Given the description of an element on the screen output the (x, y) to click on. 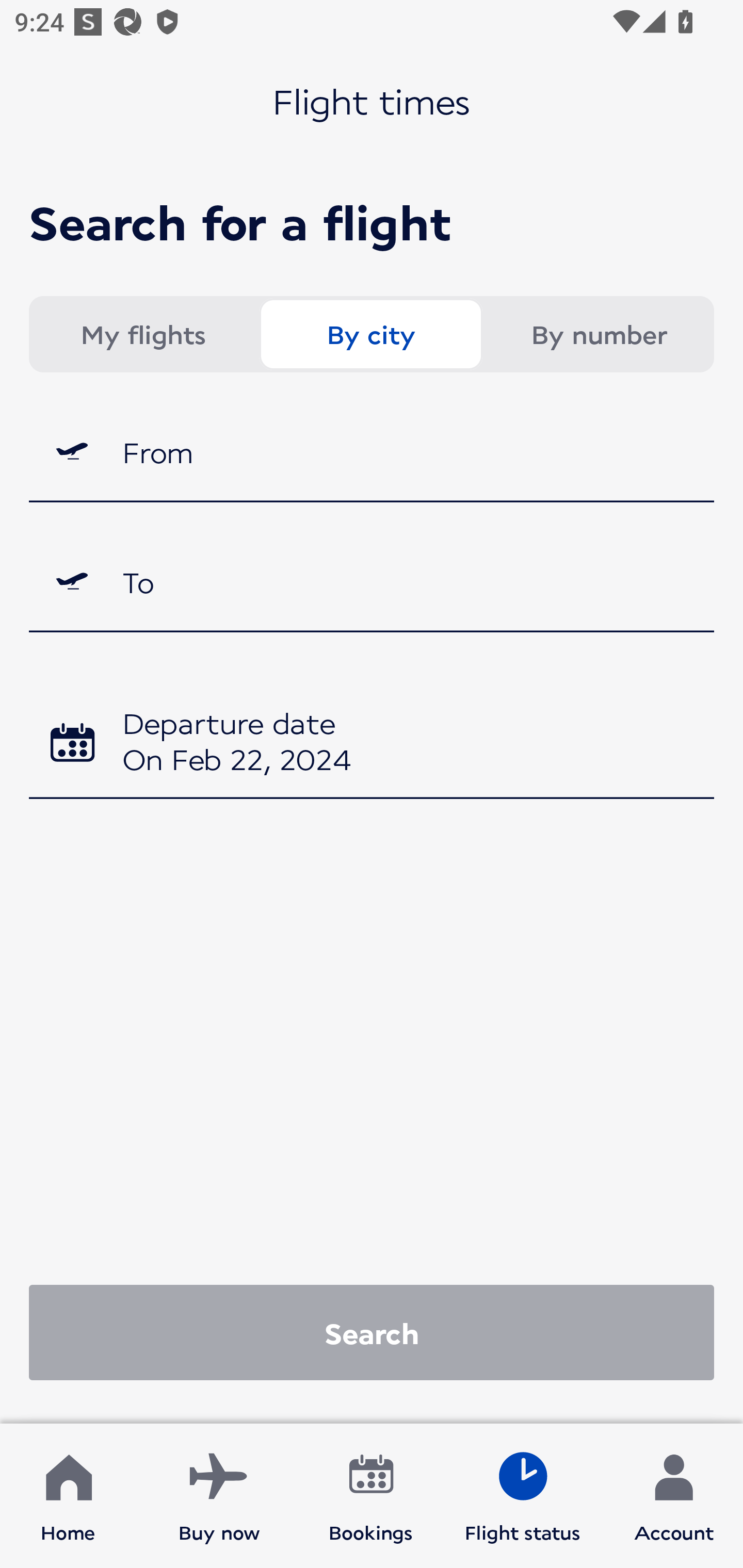
My flights (142, 334)
By city (370, 334)
By number (598, 334)
From (371, 451)
To (371, 581)
On Feb 22, 2024 Departure date (371, 744)
Search (371, 1331)
Home (68, 1495)
Buy now (219, 1495)
Bookings (370, 1495)
Account (674, 1495)
